Given the description of an element on the screen output the (x, y) to click on. 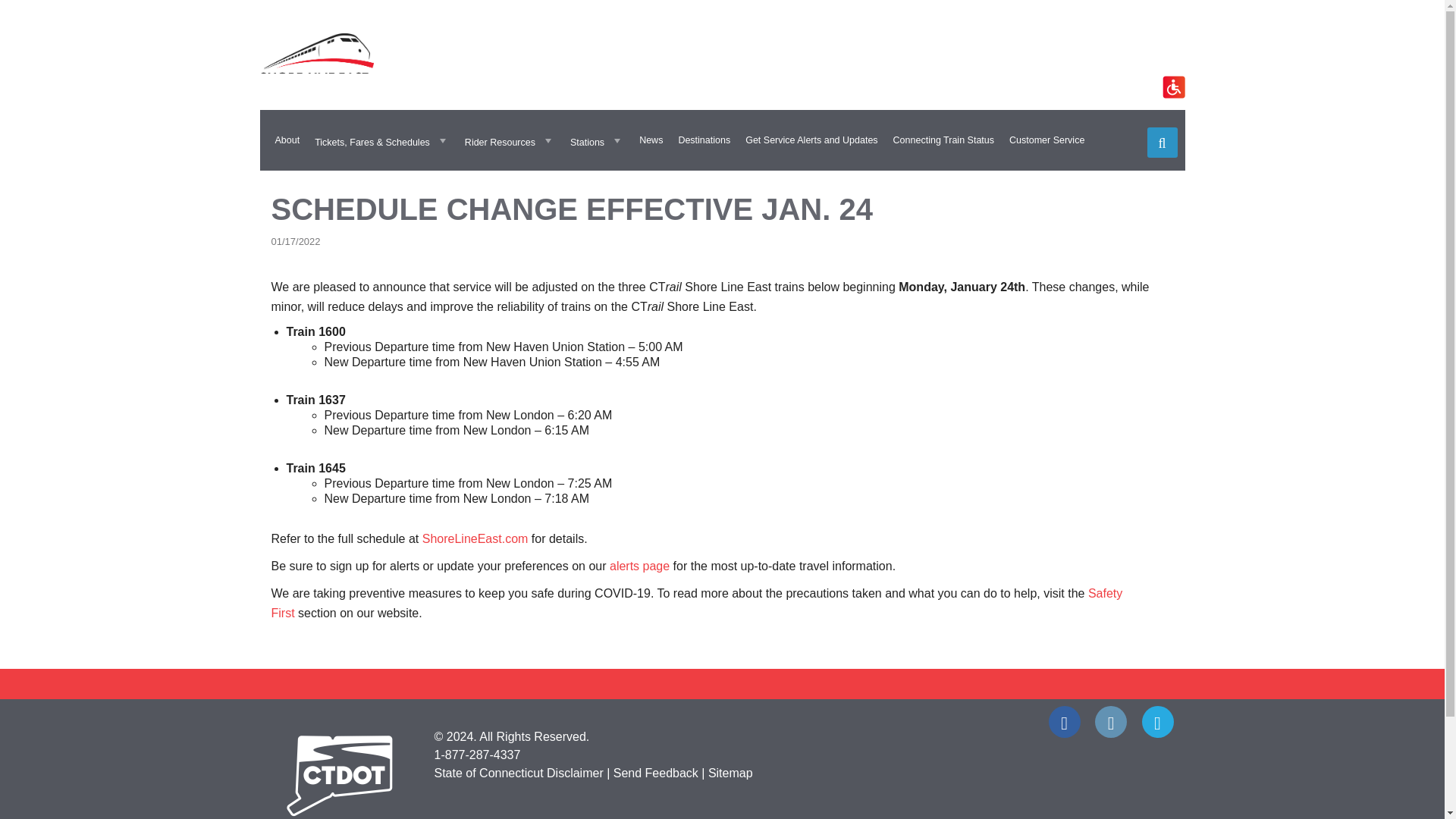
Instagram (1110, 721)
News (650, 140)
Twitter (1157, 721)
Rider Resources (509, 140)
Facebook (1064, 721)
Expand search (1161, 142)
Connecting Train Status (943, 140)
Customer Service (1046, 140)
Stations (596, 140)
About (286, 140)
Social Media Links (722, 722)
Get Service Alerts and Updates (811, 140)
Destinations (703, 140)
